Given the description of an element on the screen output the (x, y) to click on. 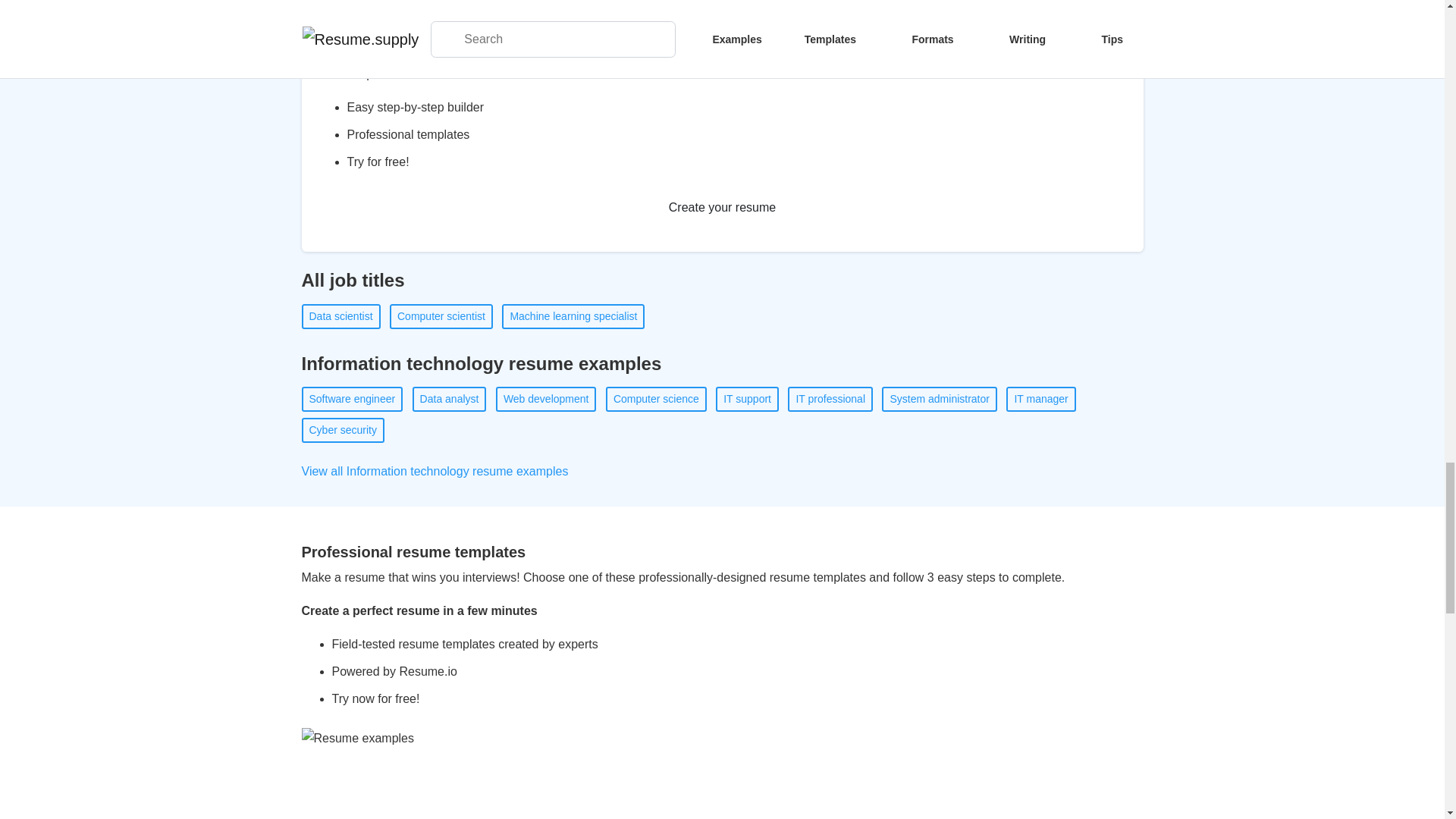
Computer scientist (441, 316)
Data scientist (340, 316)
